Given the description of an element on the screen output the (x, y) to click on. 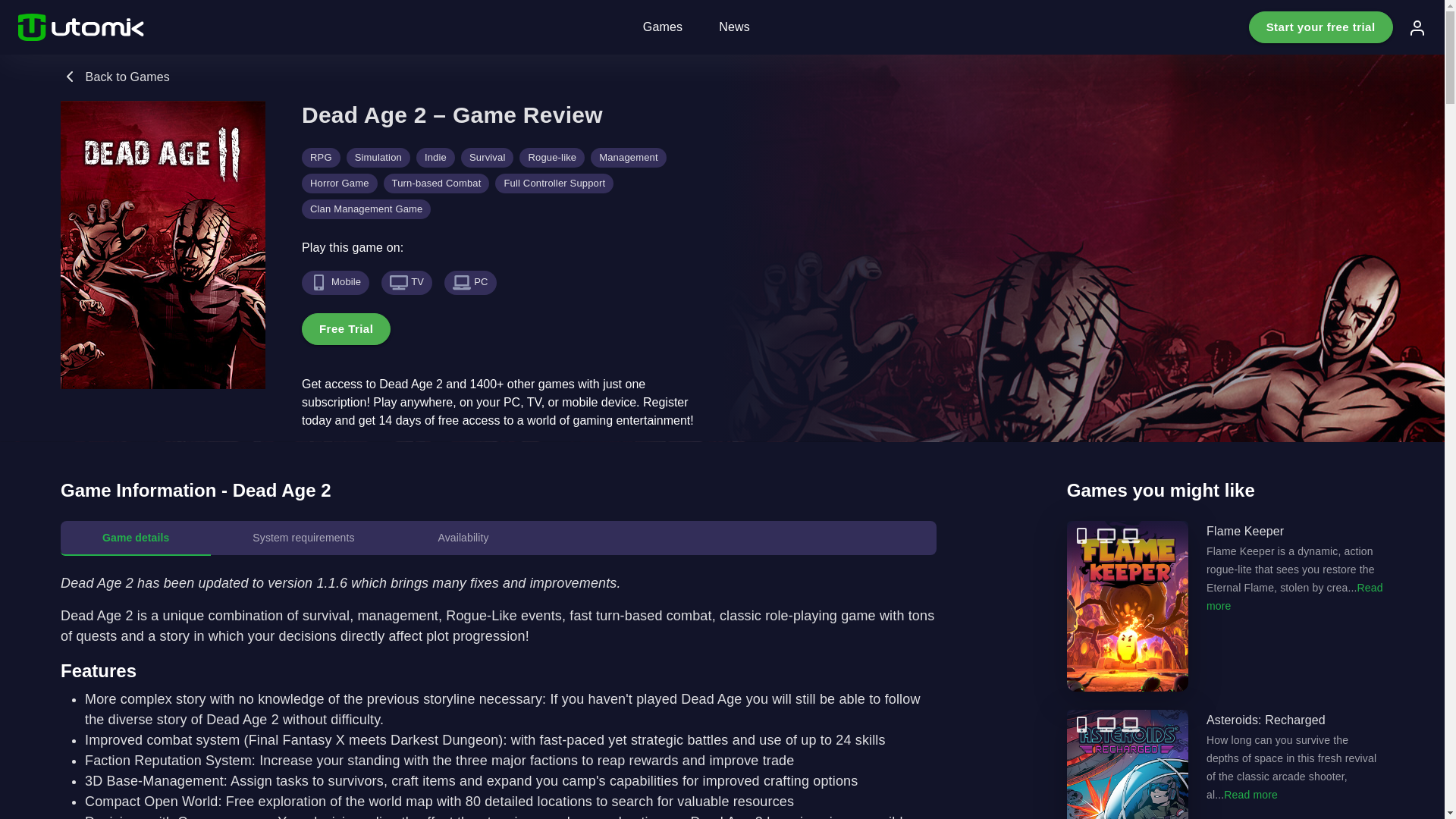
Start your free trial (1321, 27)
RPG (320, 157)
Indie (435, 157)
Survival (487, 157)
Asteroids: Recharged (1225, 764)
Game details (136, 538)
Back to Games (115, 76)
Full Controller Support (553, 183)
Clan Management Game (365, 209)
Simulation (378, 157)
